Given the description of an element on the screen output the (x, y) to click on. 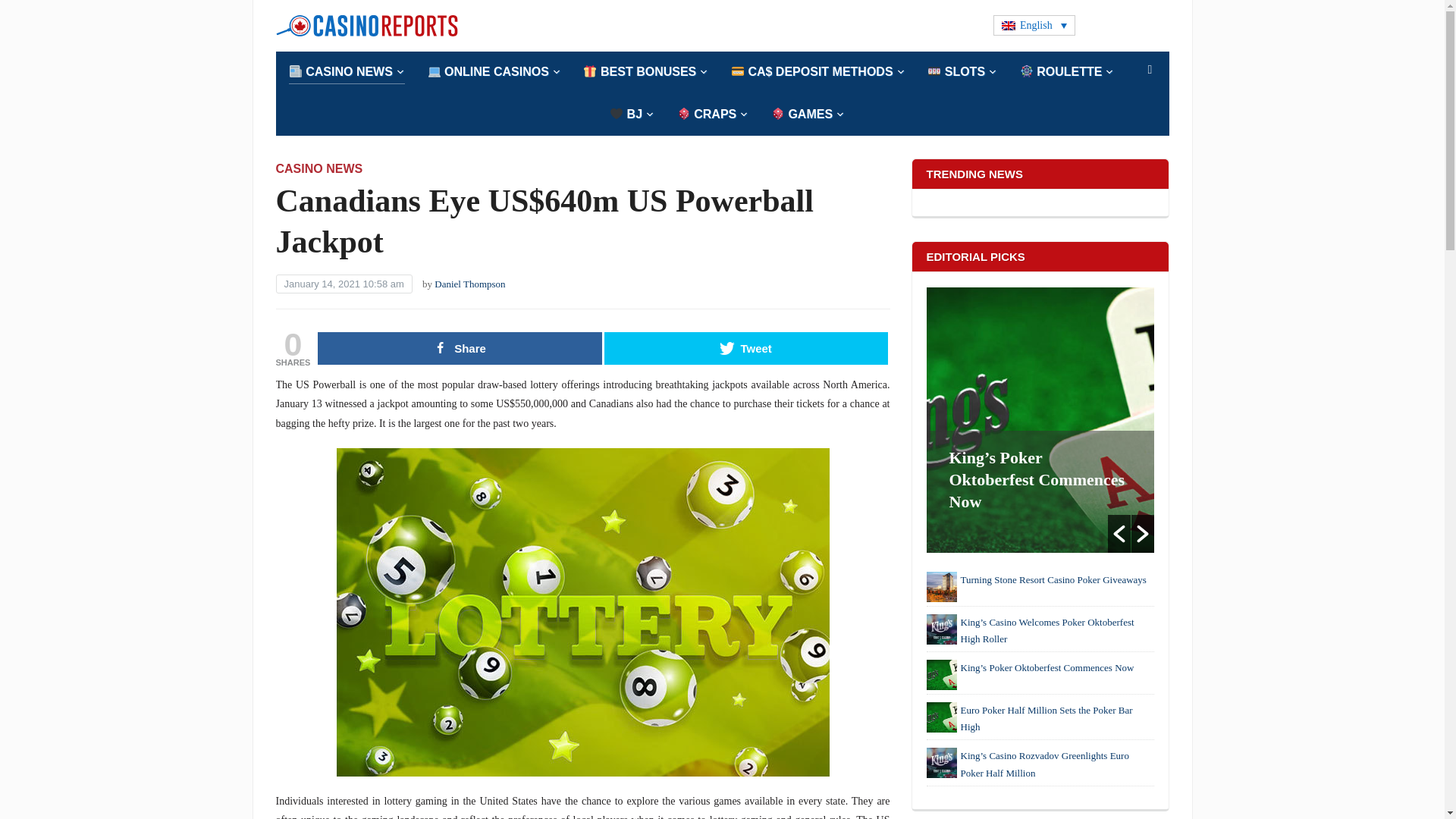
Euro Poker Half Million Sets the Poker Bar High (941, 716)
Turning Stone Resort Casino Poker Giveaways (941, 586)
